Given the description of an element on the screen output the (x, y) to click on. 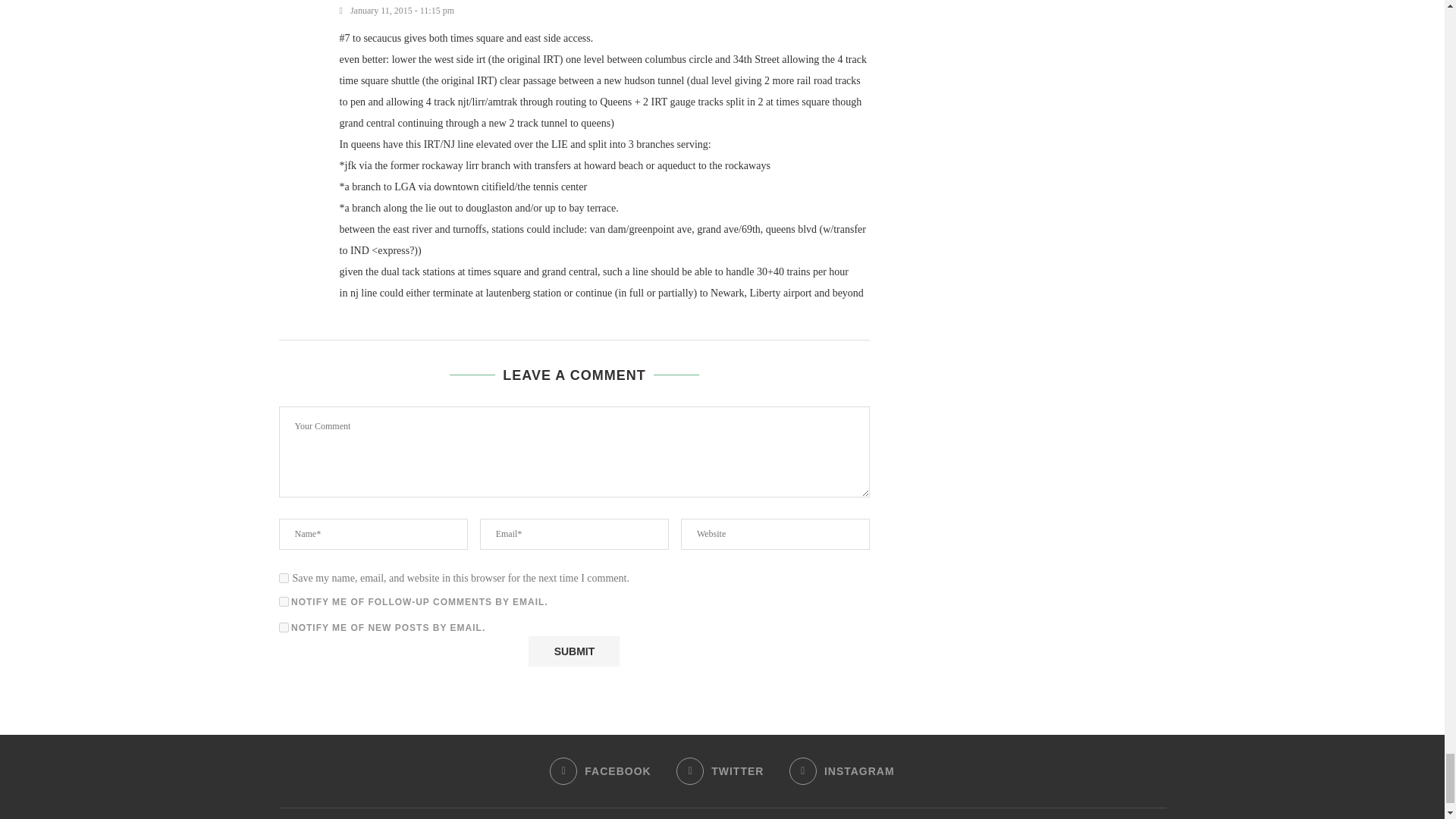
yes (283, 578)
subscribe (283, 627)
subscribe (283, 601)
Submit (574, 651)
